Given the description of an element on the screen output the (x, y) to click on. 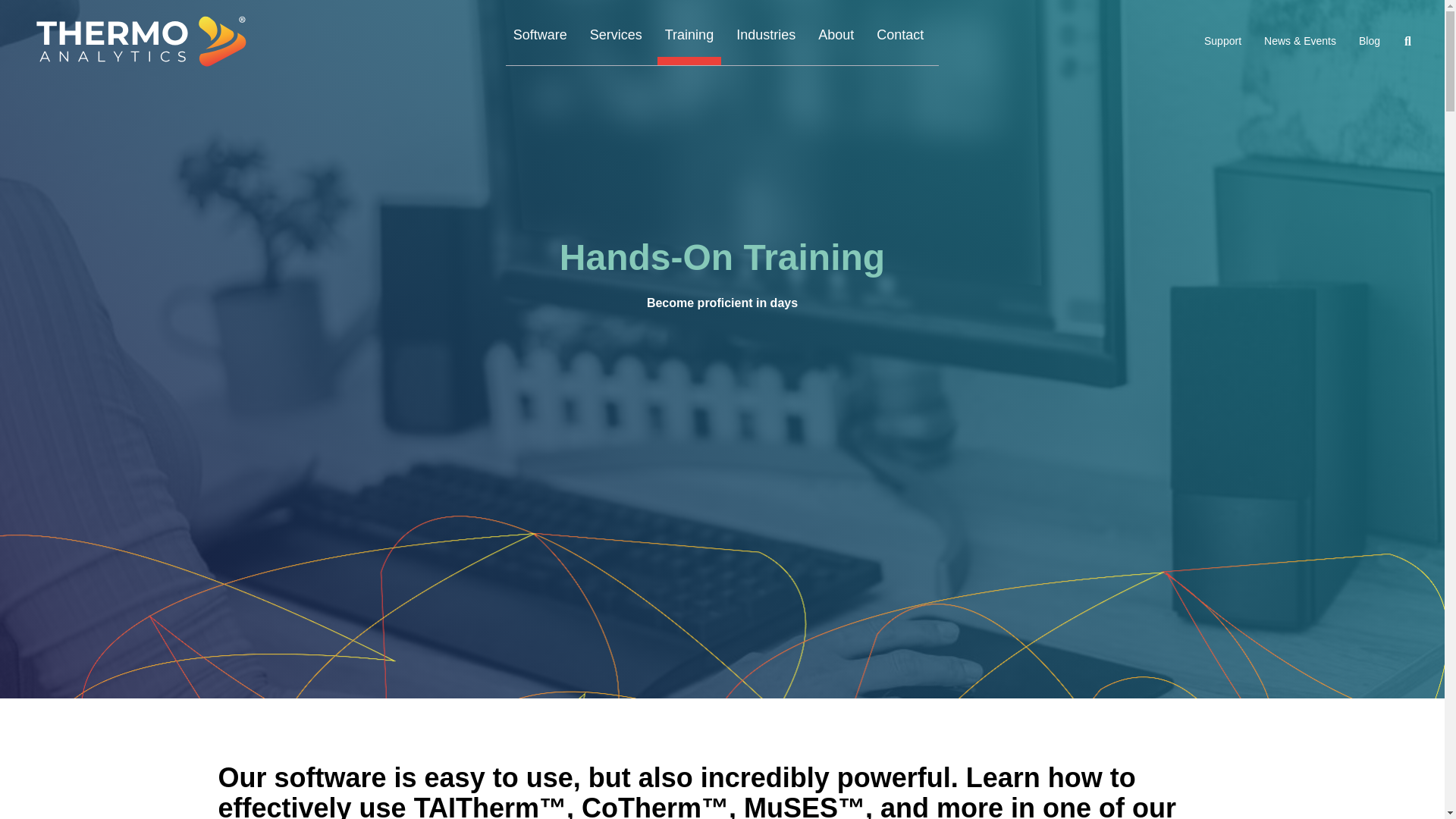
Services (615, 41)
Software (540, 41)
Home (147, 41)
